Given the description of an element on the screen output the (x, y) to click on. 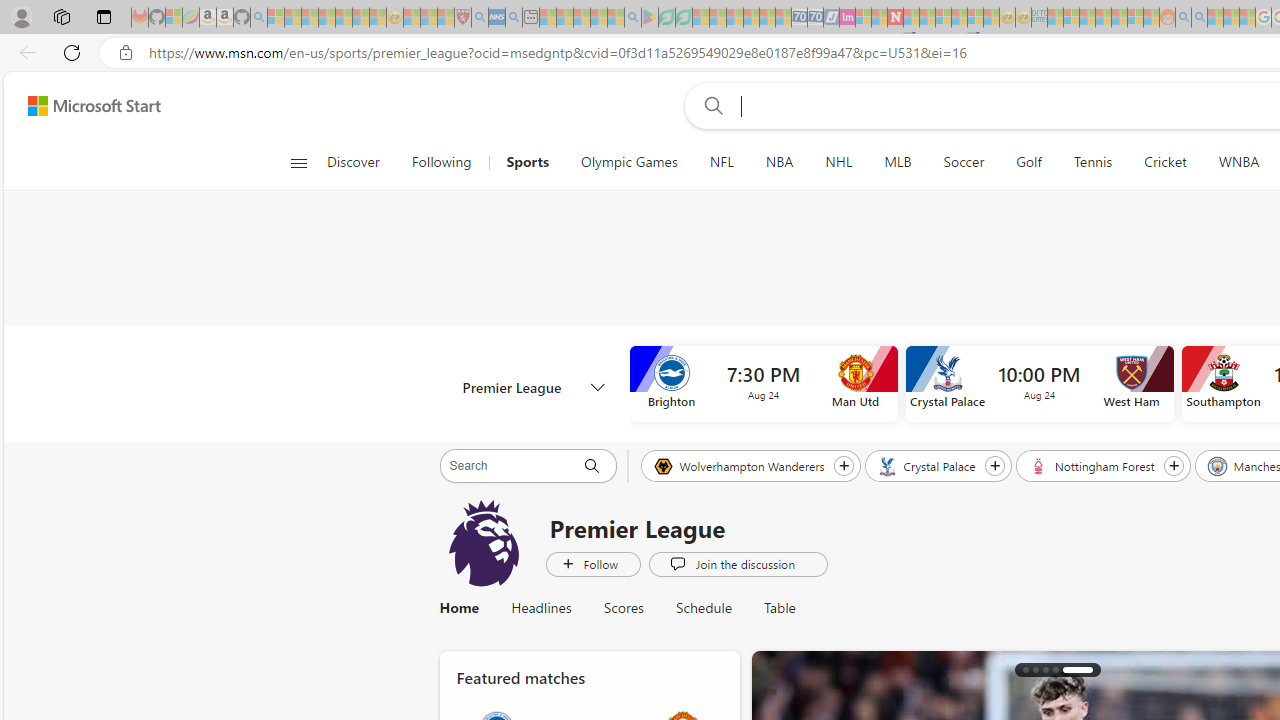
utah sues federal government - Search - Sleeping (513, 17)
Tennis (1092, 162)
Premier League (533, 386)
Crystal Palace (927, 465)
Follow Wolverhampton Wanderers (843, 465)
